Given the description of an element on the screen output the (x, y) to click on. 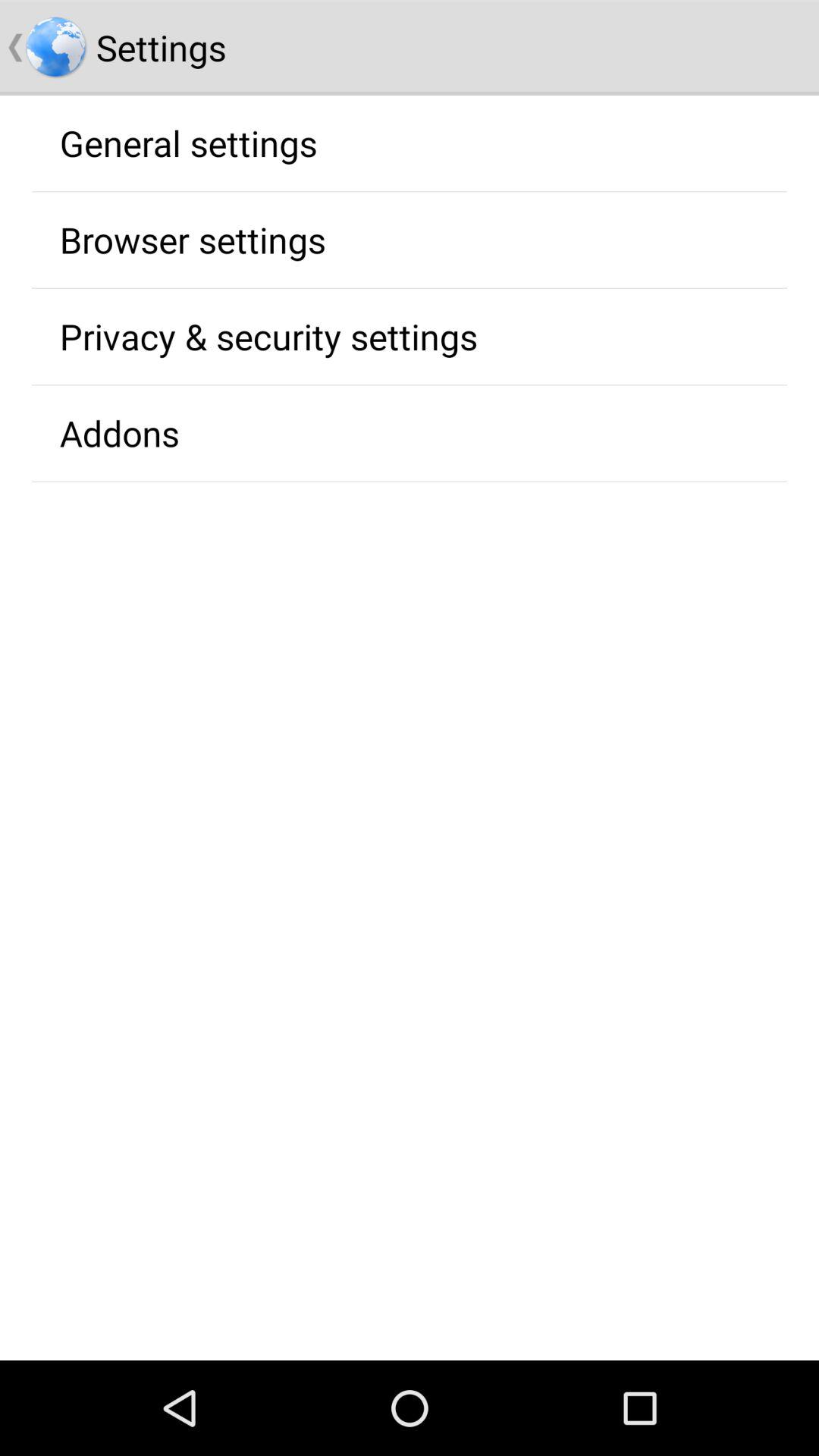
swipe to the privacy & security settings icon (268, 336)
